Given the description of an element on the screen output the (x, y) to click on. 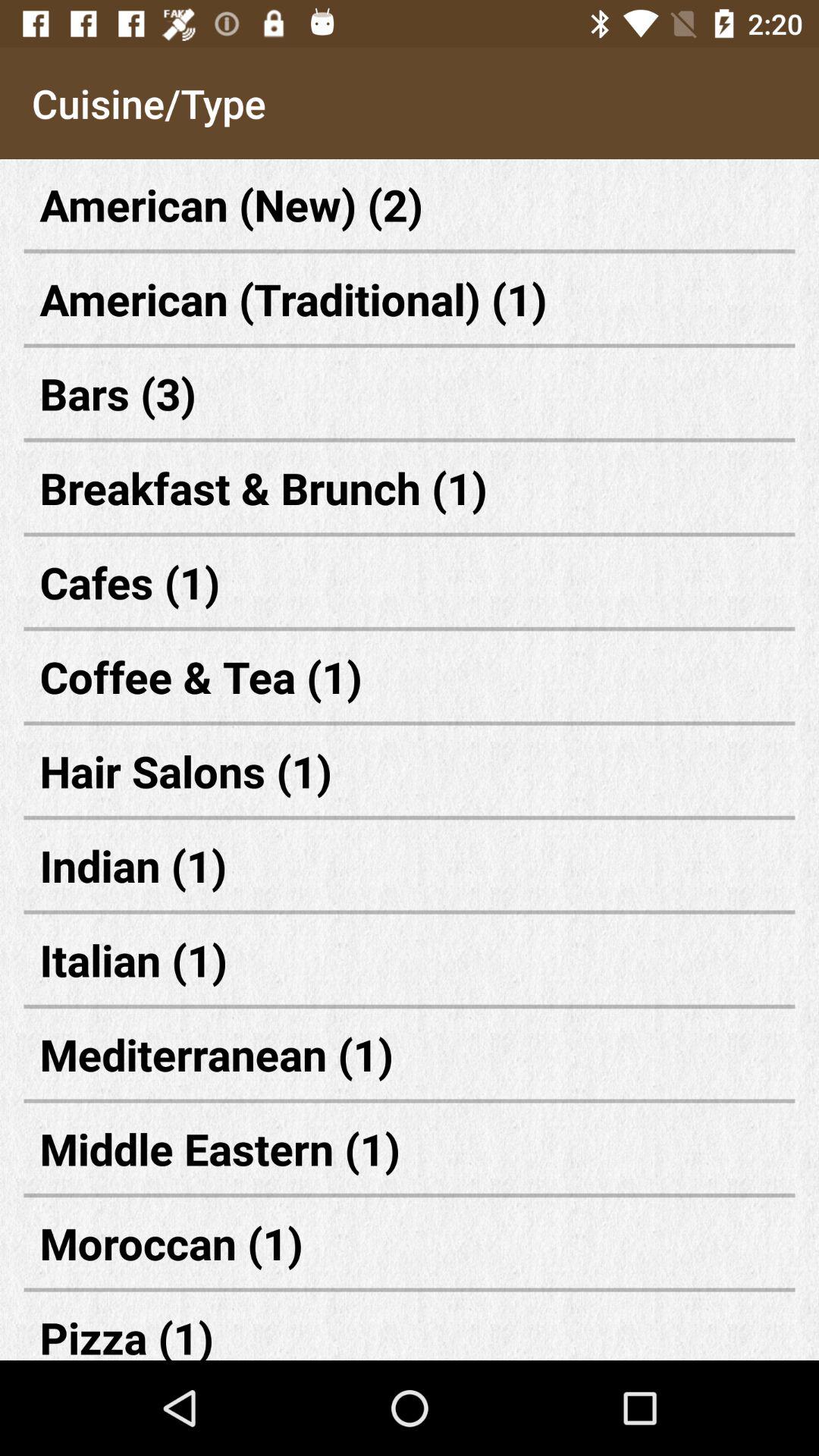
turn off icon above indian (1) (409, 770)
